Given the description of an element on the screen output the (x, y) to click on. 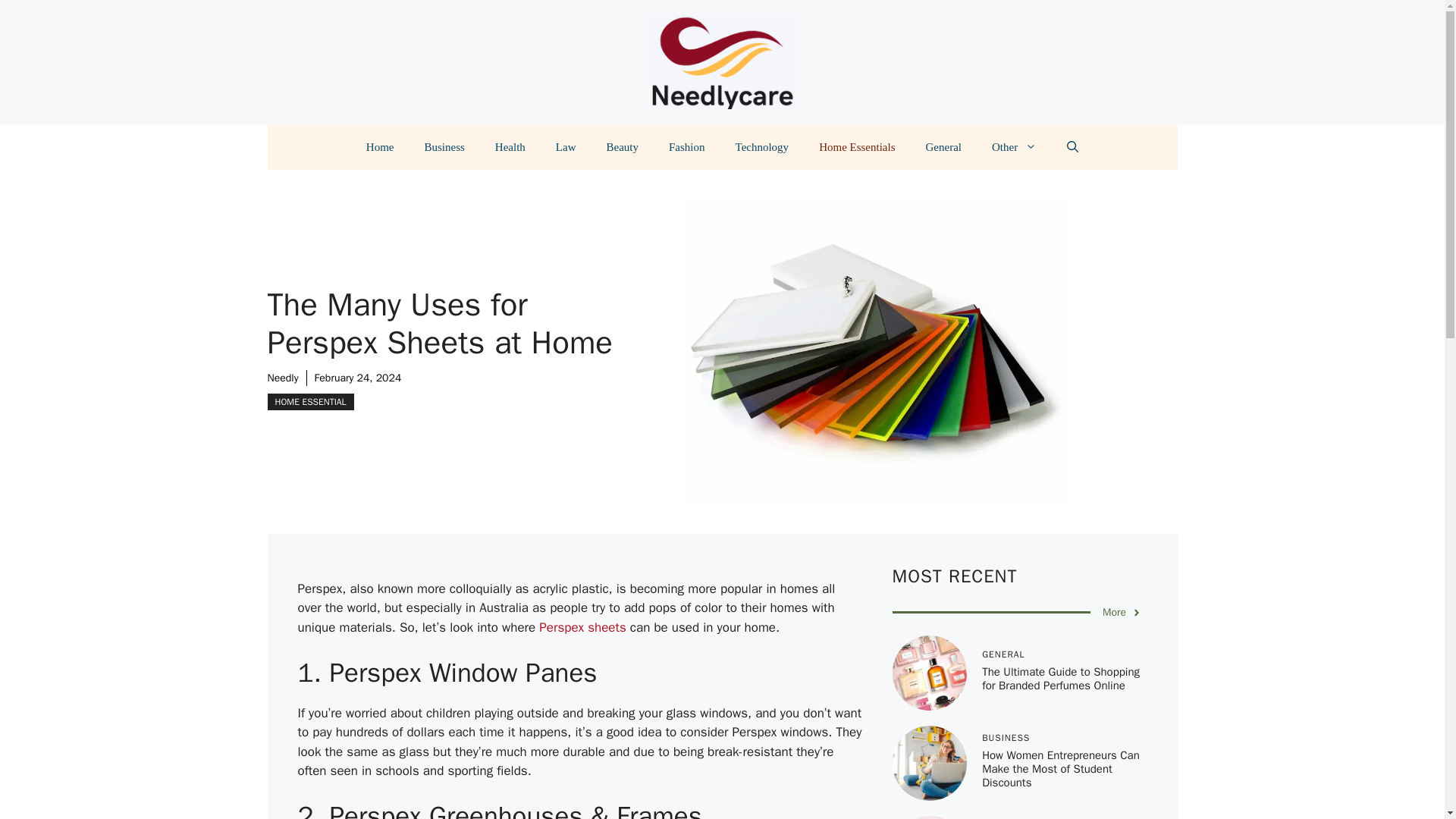
Needly (282, 377)
Law (565, 146)
Technology (762, 146)
Other (1013, 146)
Fashion (686, 146)
General (943, 146)
Beauty (622, 146)
Health (510, 146)
Home (379, 146)
Home Essentials (856, 146)
